Given the description of an element on the screen output the (x, y) to click on. 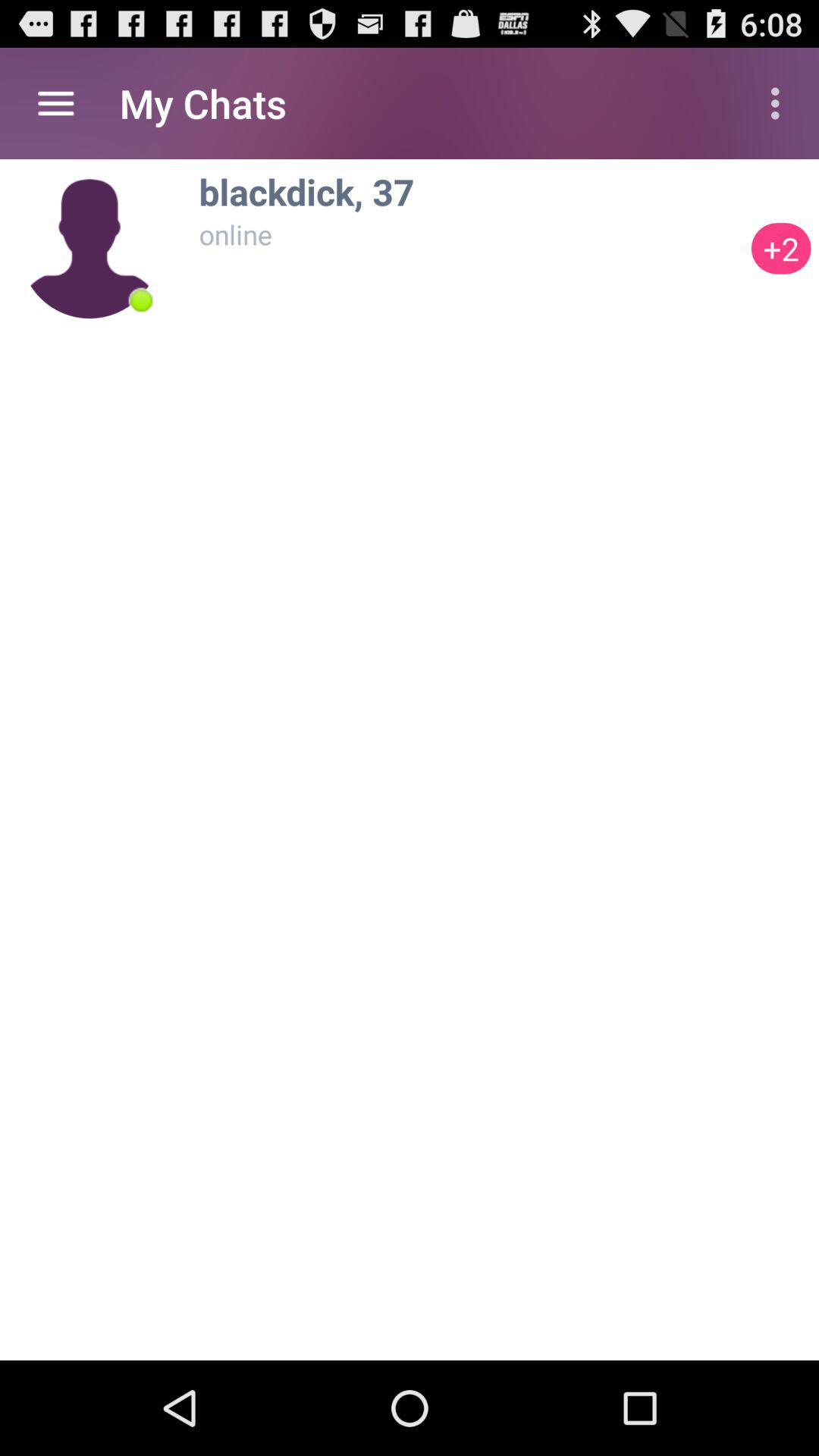
launch item below the my chats item (141, 300)
